Given the description of an element on the screen output the (x, y) to click on. 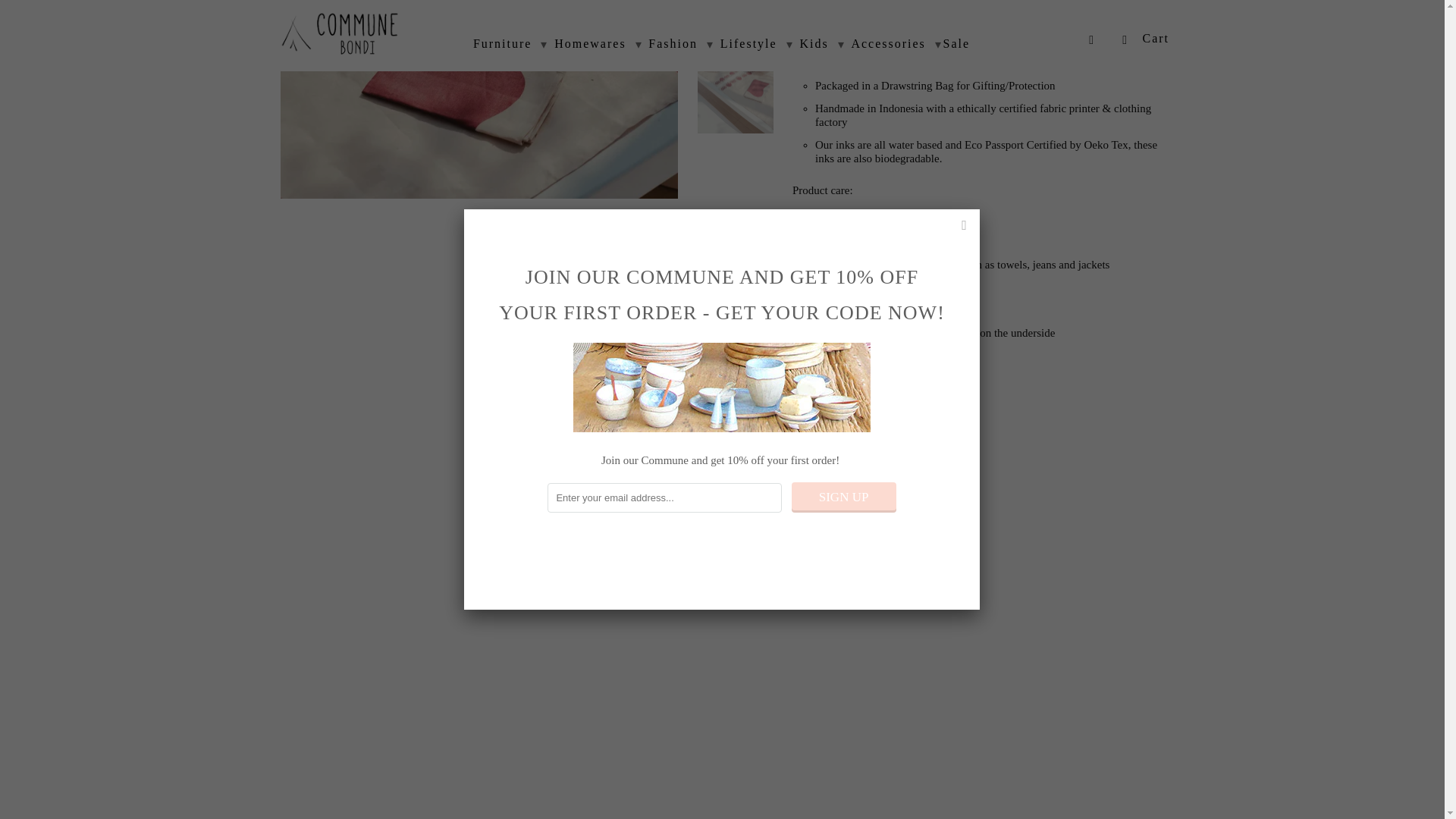
1 (810, 390)
The Lombok Placemats Set of 4 (479, 99)
Sign Up (844, 144)
